Given the description of an element on the screen output the (x, y) to click on. 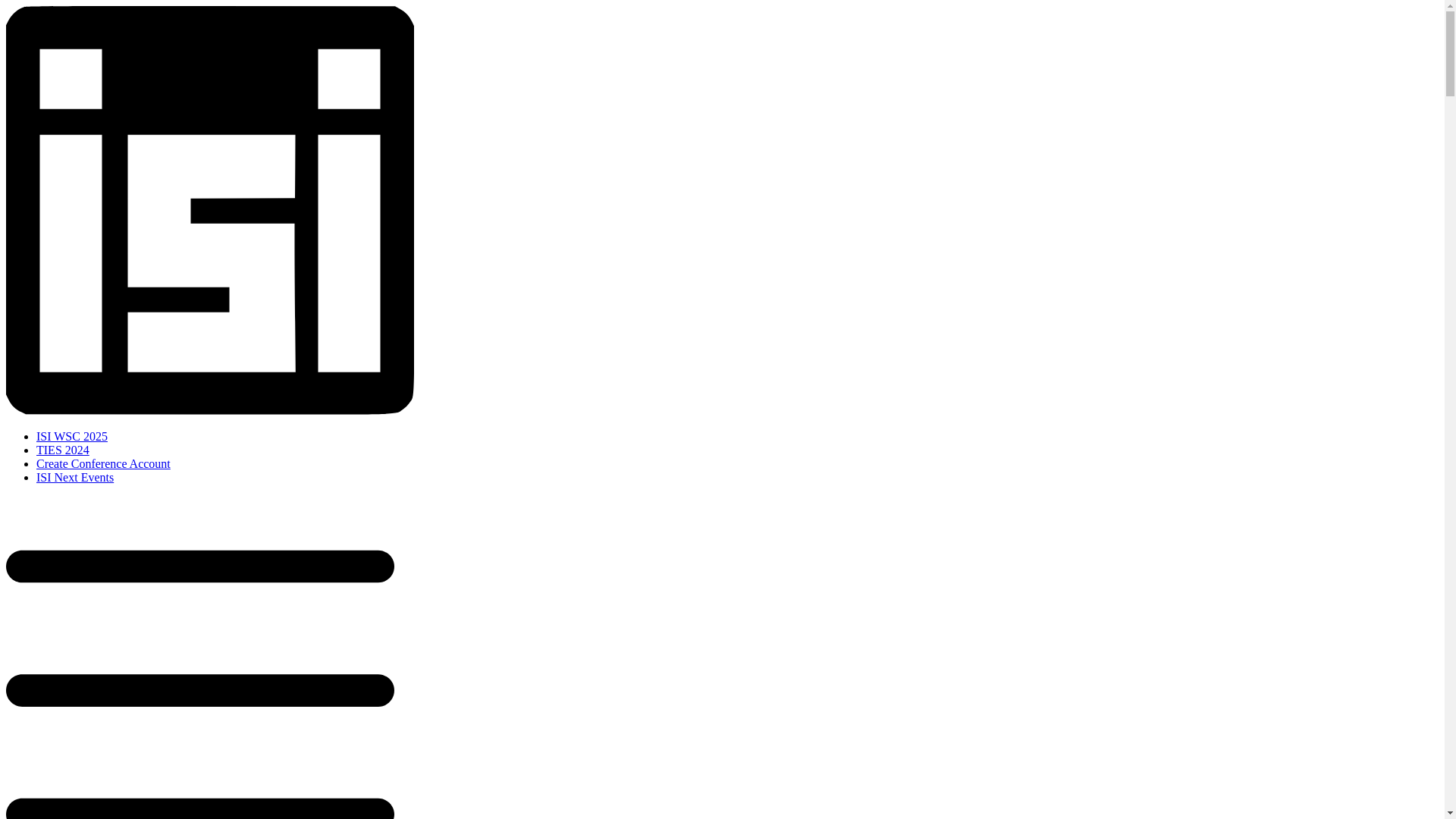
ISI Next Events (74, 477)
TIES 2024 (62, 449)
ISI WSC 2025 (71, 436)
Create Conference Account (103, 463)
